Given the description of an element on the screen output the (x, y) to click on. 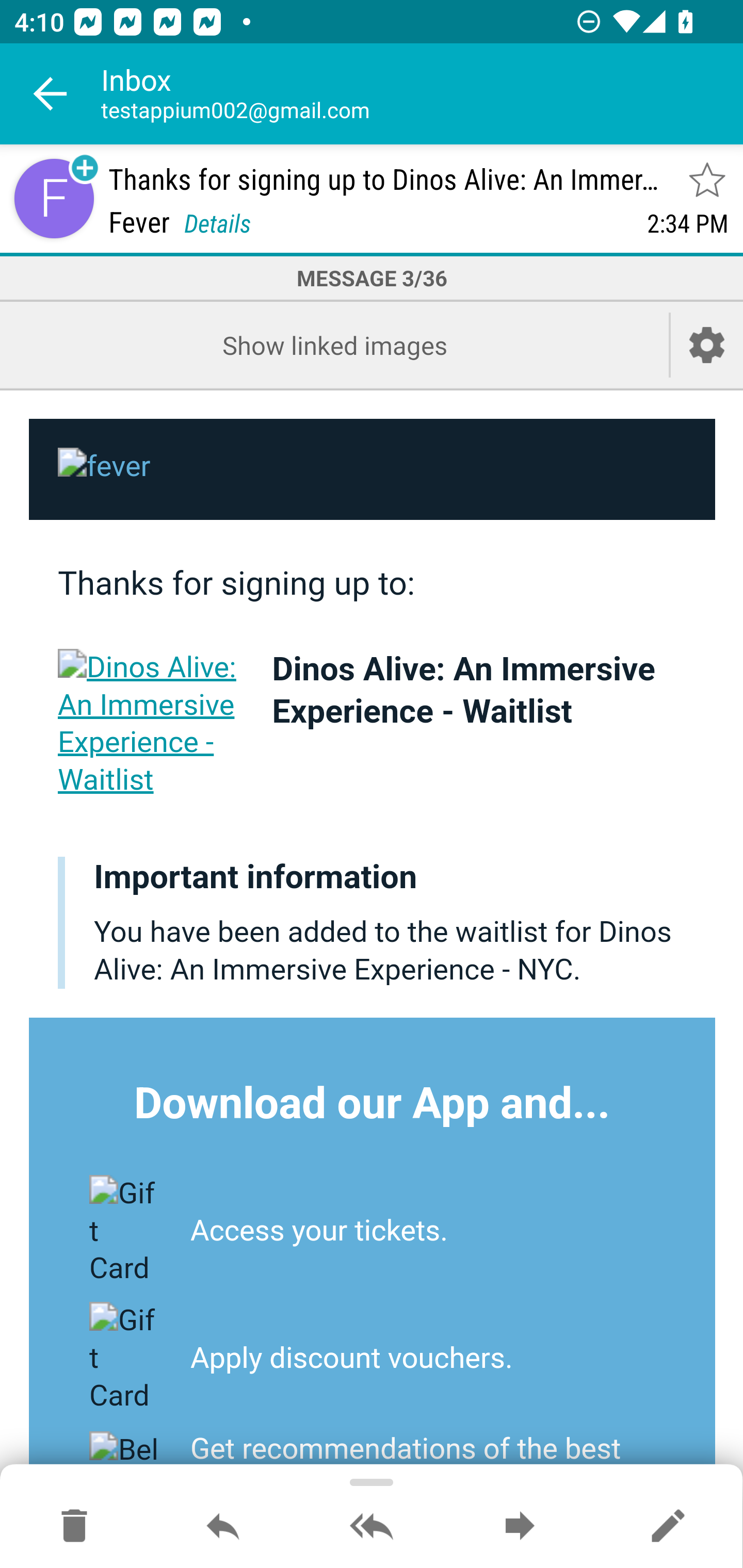
Navigate up (50, 93)
Inbox testappium002@gmail.com (422, 93)
Sender contact button (53, 198)
Show linked images (334, 344)
Account setup (706, 344)
fever (372, 470)
Dinos Alive: An Immersive Experience - Waitlist (150, 723)
Dinos Alive: An Immersive Experience - Waitlist (463, 689)
Move to Deleted (74, 1527)
Reply (222, 1527)
Reply all (371, 1527)
Forward (519, 1527)
Reply as new (667, 1527)
